Given the description of an element on the screen output the (x, y) to click on. 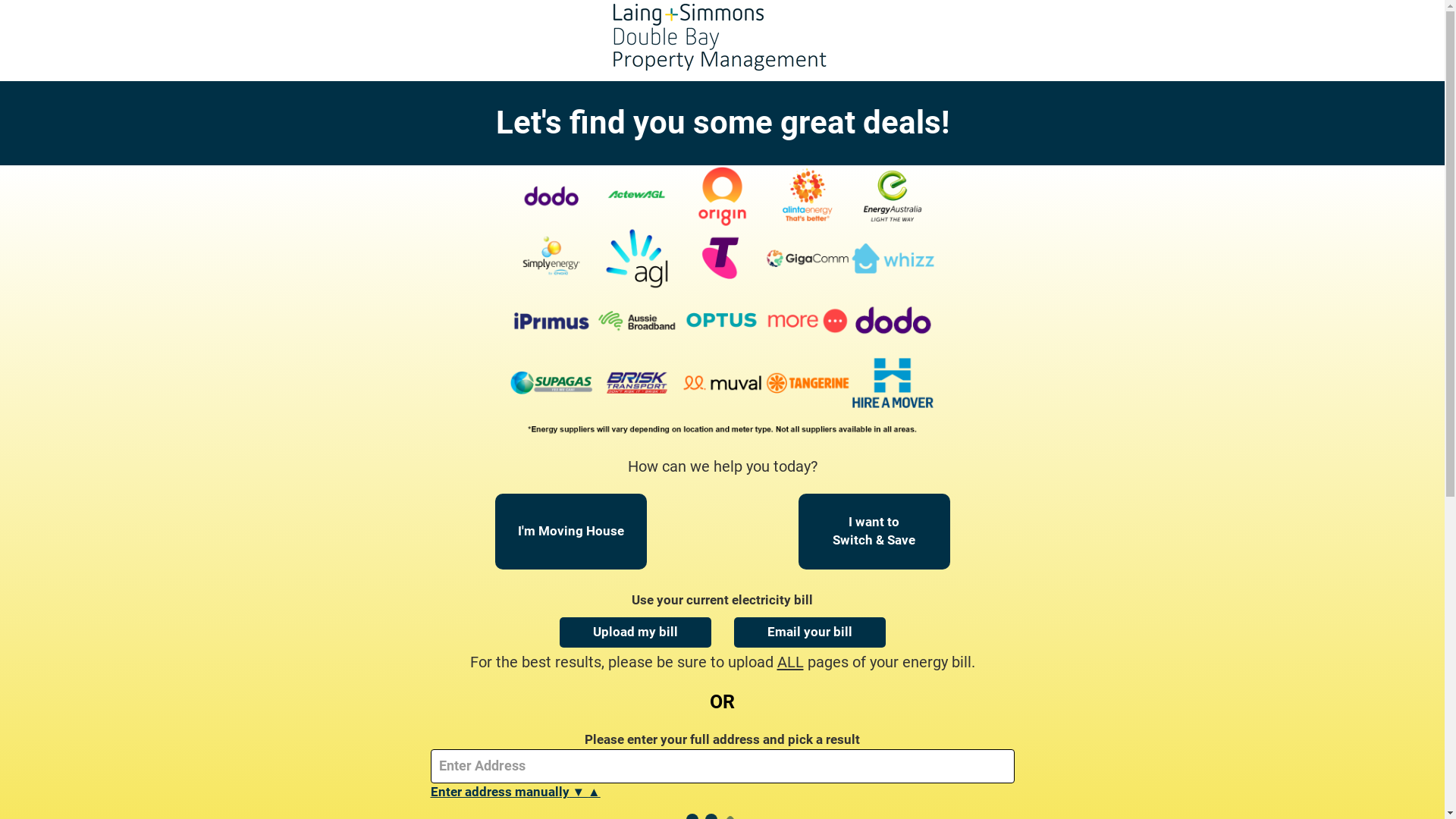
I want to
Switch & Save Element type: text (873, 531)
Email your bill Element type: text (809, 632)
I'm Moving House Element type: text (570, 531)
